Given the description of an element on the screen output the (x, y) to click on. 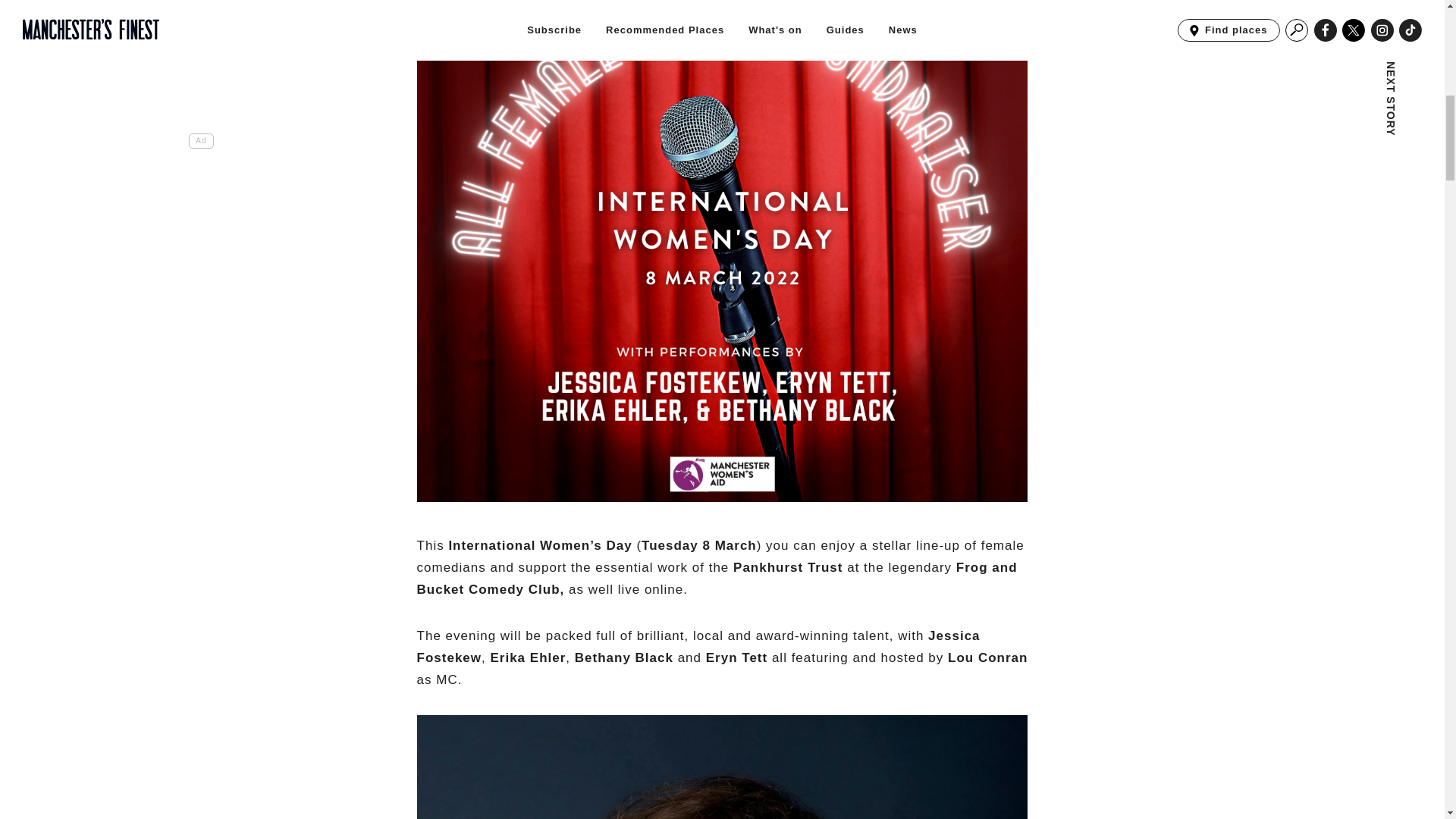
NEXT STORY (1297, 58)
